Given the description of an element on the screen output the (x, y) to click on. 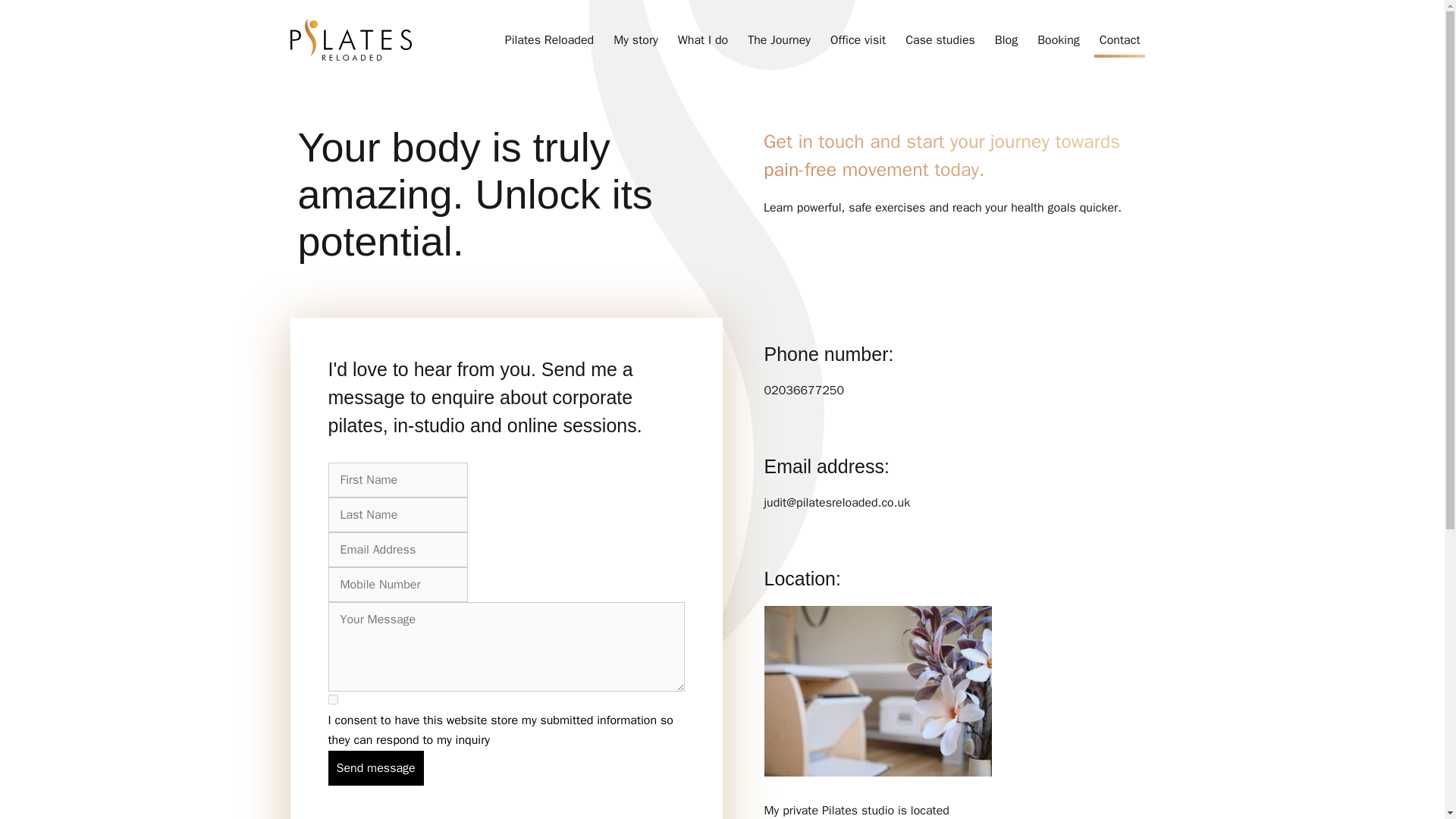
Send message (375, 768)
Case studies (939, 39)
Office visit (858, 39)
on (332, 699)
My story (635, 39)
Pilates Reloaded (549, 39)
Booking (1058, 39)
Contact (1119, 39)
What I do (702, 39)
Blog (1006, 39)
